Given the description of an element on the screen output the (x, y) to click on. 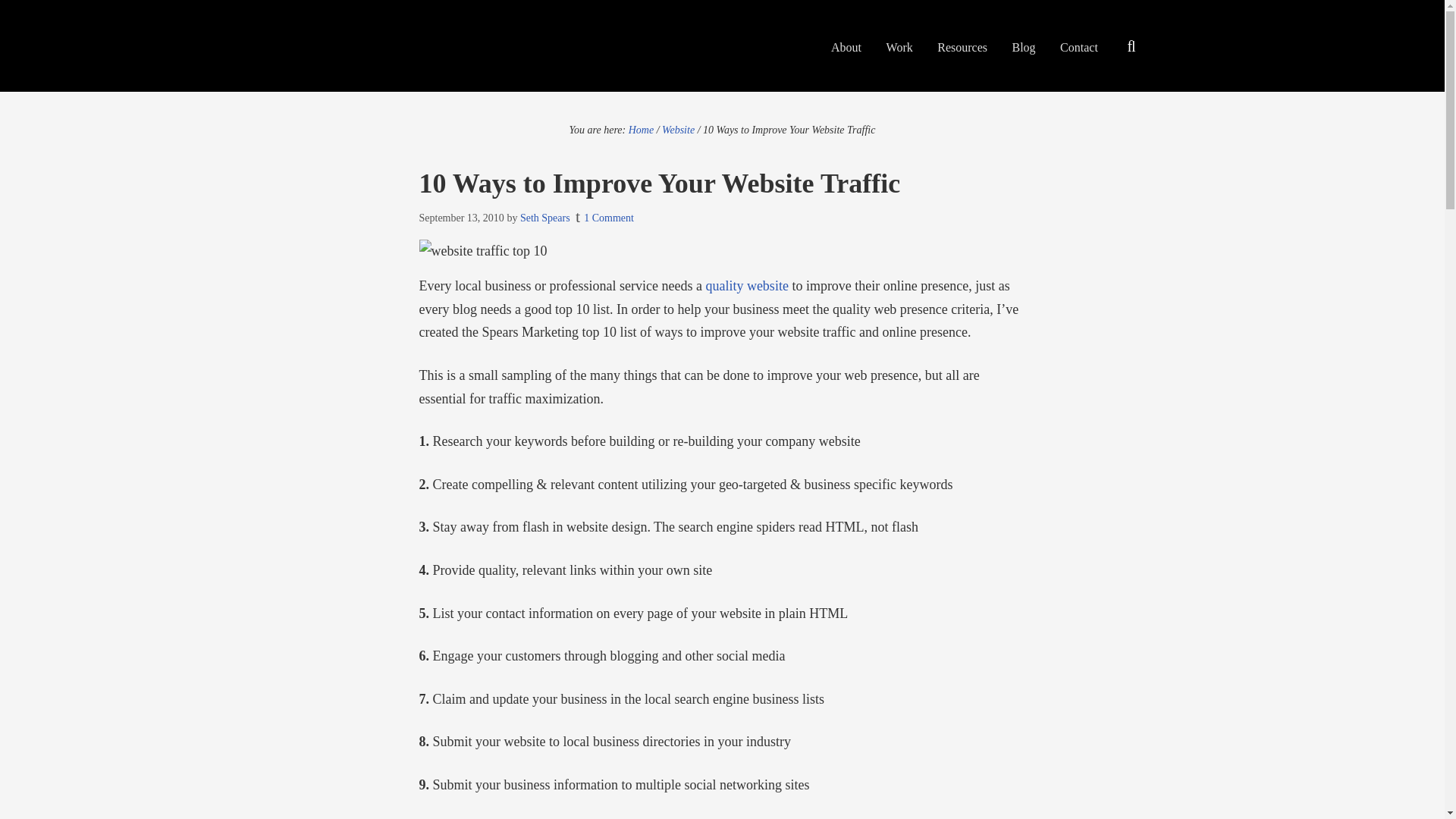
Spears Marketing (402, 45)
Resources (961, 46)
Blog (1023, 46)
Website (678, 129)
About (846, 46)
Seth Spears (544, 217)
1 Comment (608, 217)
quality website (745, 285)
Home (640, 129)
